Given the description of an element on the screen output the (x, y) to click on. 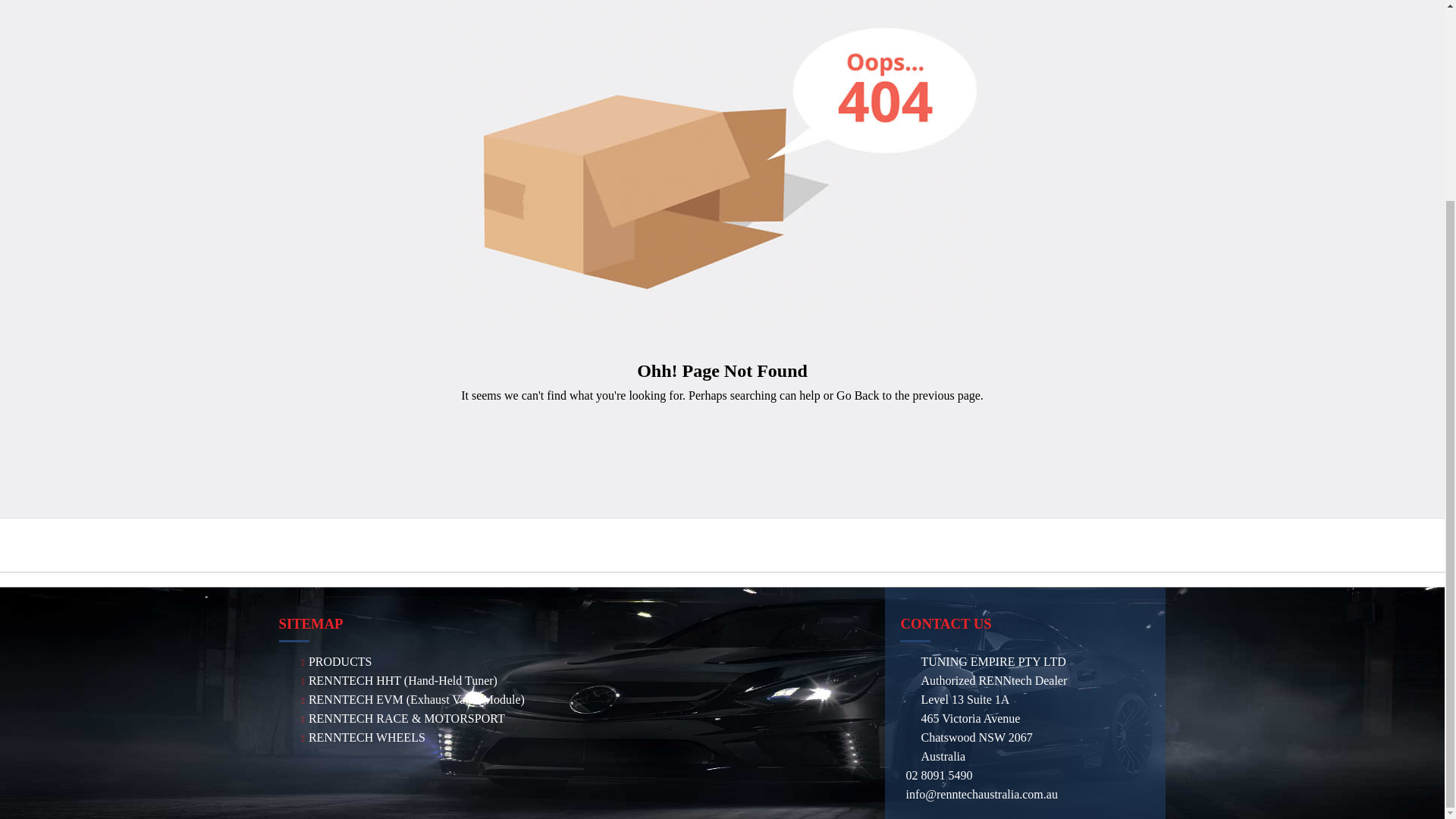
RENNTECH WHEELS (361, 737)
PRODUCTS (334, 661)
Go Back (857, 395)
02 8091 5490 (938, 775)
